Given the description of an element on the screen output the (x, y) to click on. 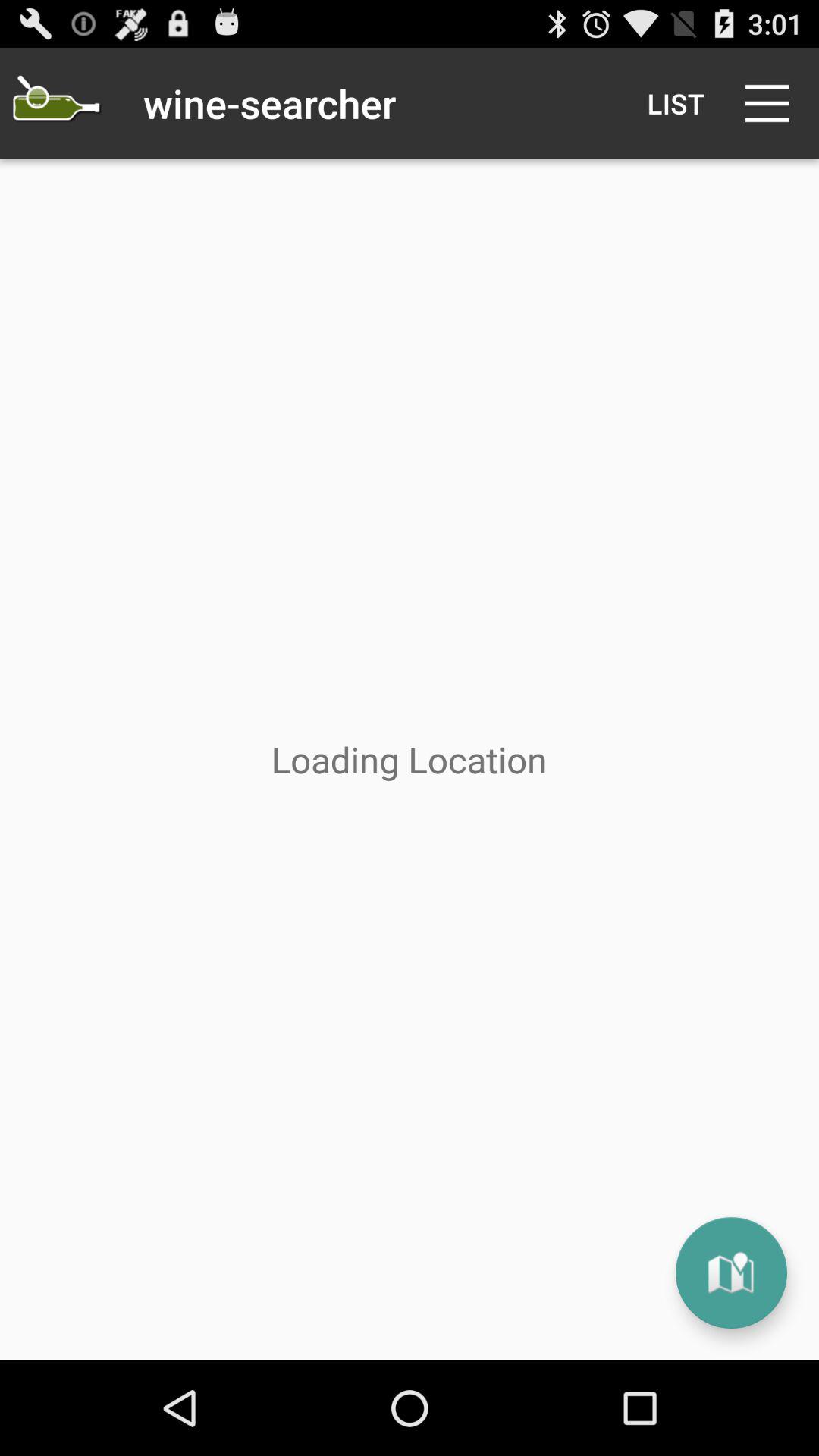
search for wine (55, 103)
